Given the description of an element on the screen output the (x, y) to click on. 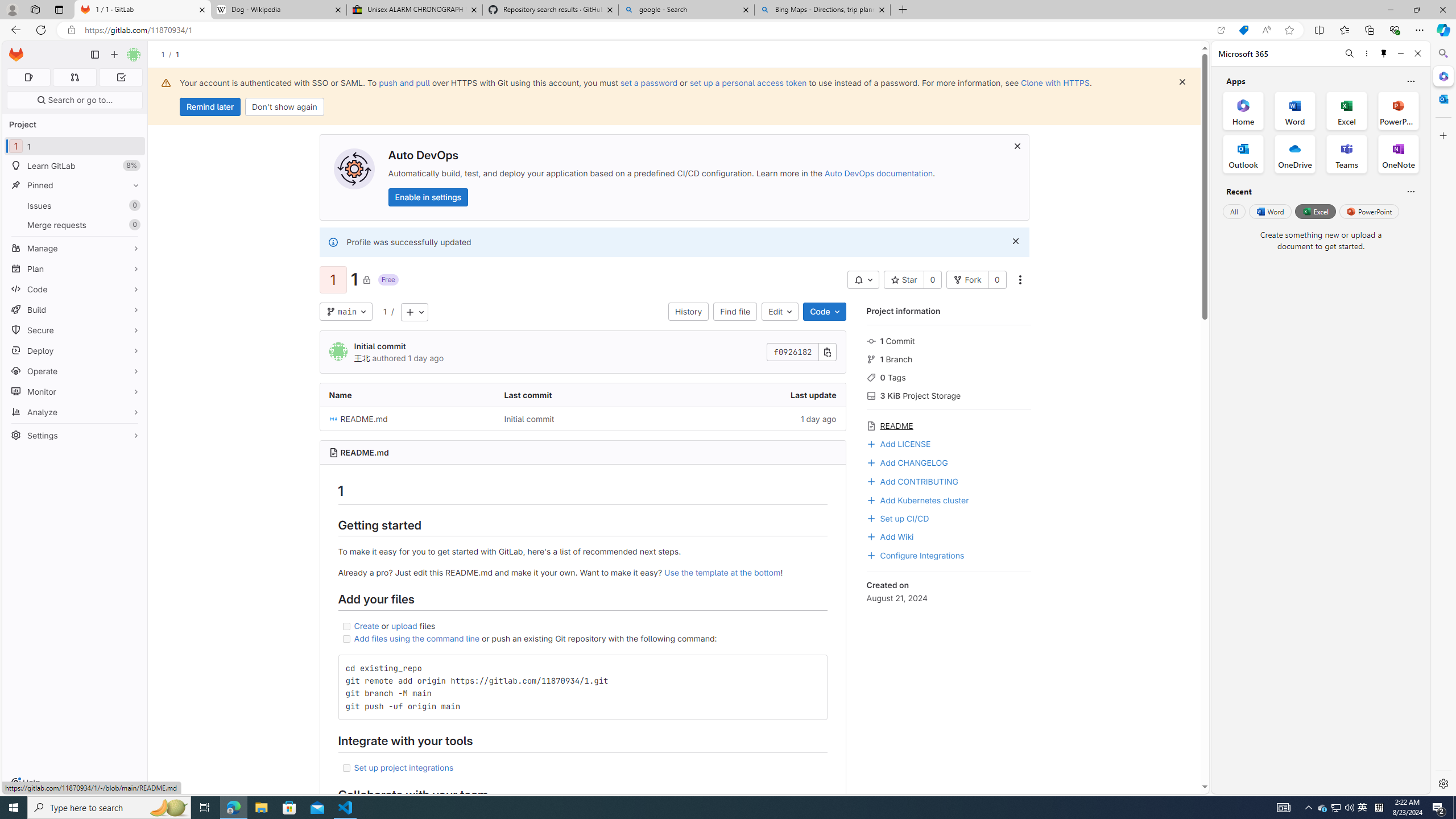
Add files using the command line (416, 638)
Dismiss Auto DevOps box (1017, 146)
upload (404, 625)
Plan (74, 268)
PowerPoint Office App (1398, 110)
Teams Office App (1346, 154)
Deploy (74, 350)
OneNote Office App (1398, 154)
Edit (780, 311)
Build (74, 309)
